Given the description of an element on the screen output the (x, y) to click on. 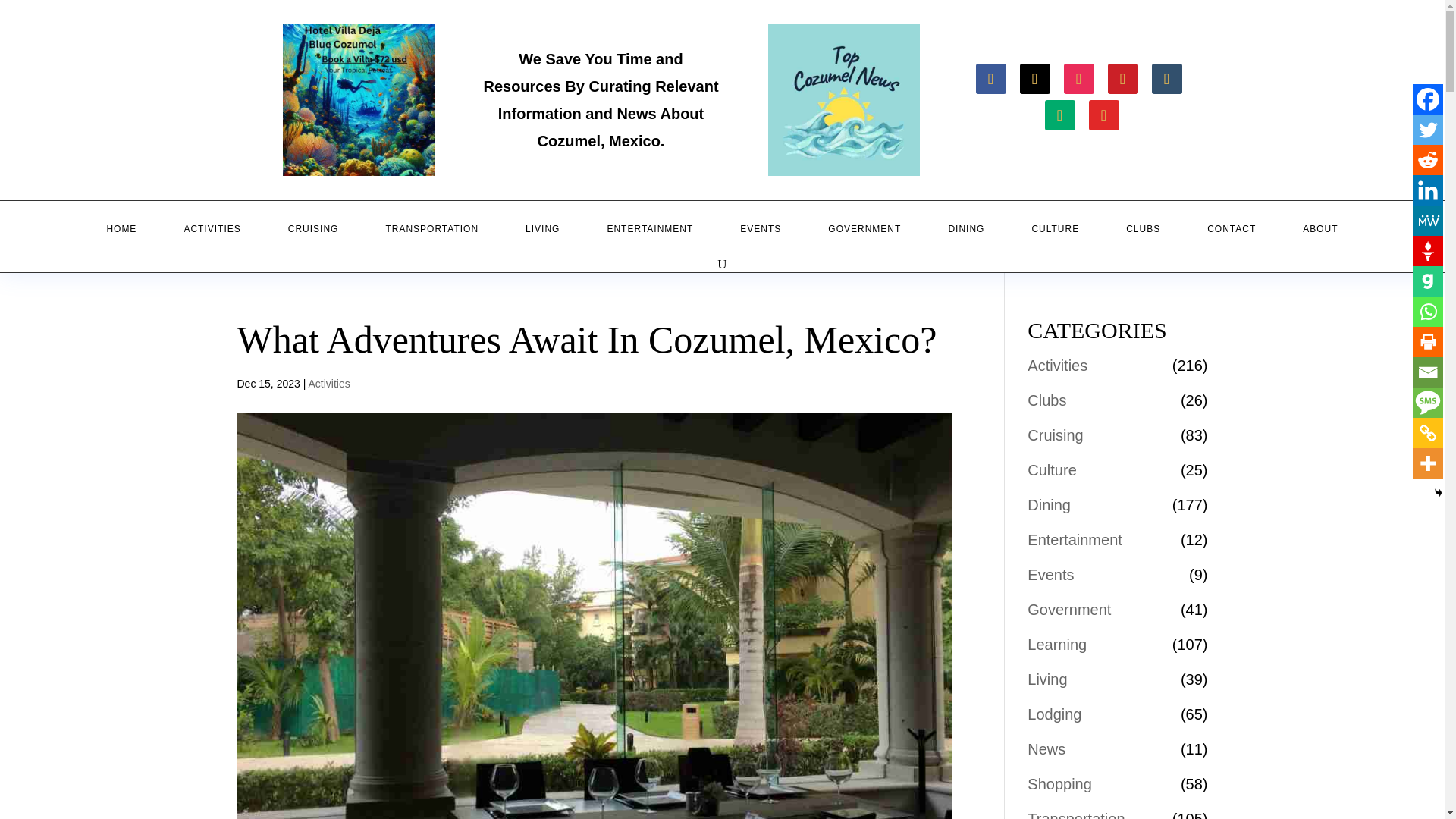
Follow on Instagram (1077, 78)
villa-deja-blue-book (357, 100)
Activities (328, 383)
Follow on FlipBoard (1104, 114)
ACTIVITIES (212, 228)
DINING (965, 228)
CRUISING (313, 228)
top-cozumel-news-logo (842, 100)
Follow on Facebook (990, 78)
Follow on Medium (1060, 114)
